Given the description of an element on the screen output the (x, y) to click on. 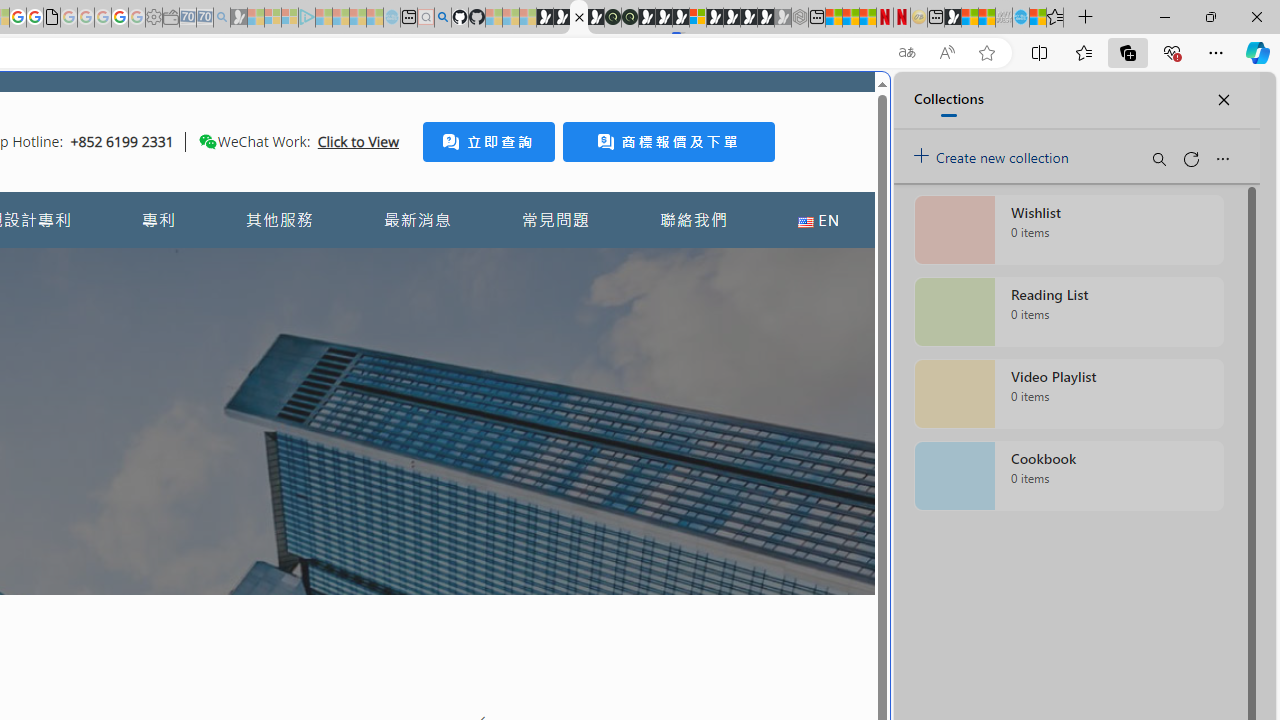
EN (818, 220)
Tabs you've opened (276, 265)
